Given the description of an element on the screen output the (x, y) to click on. 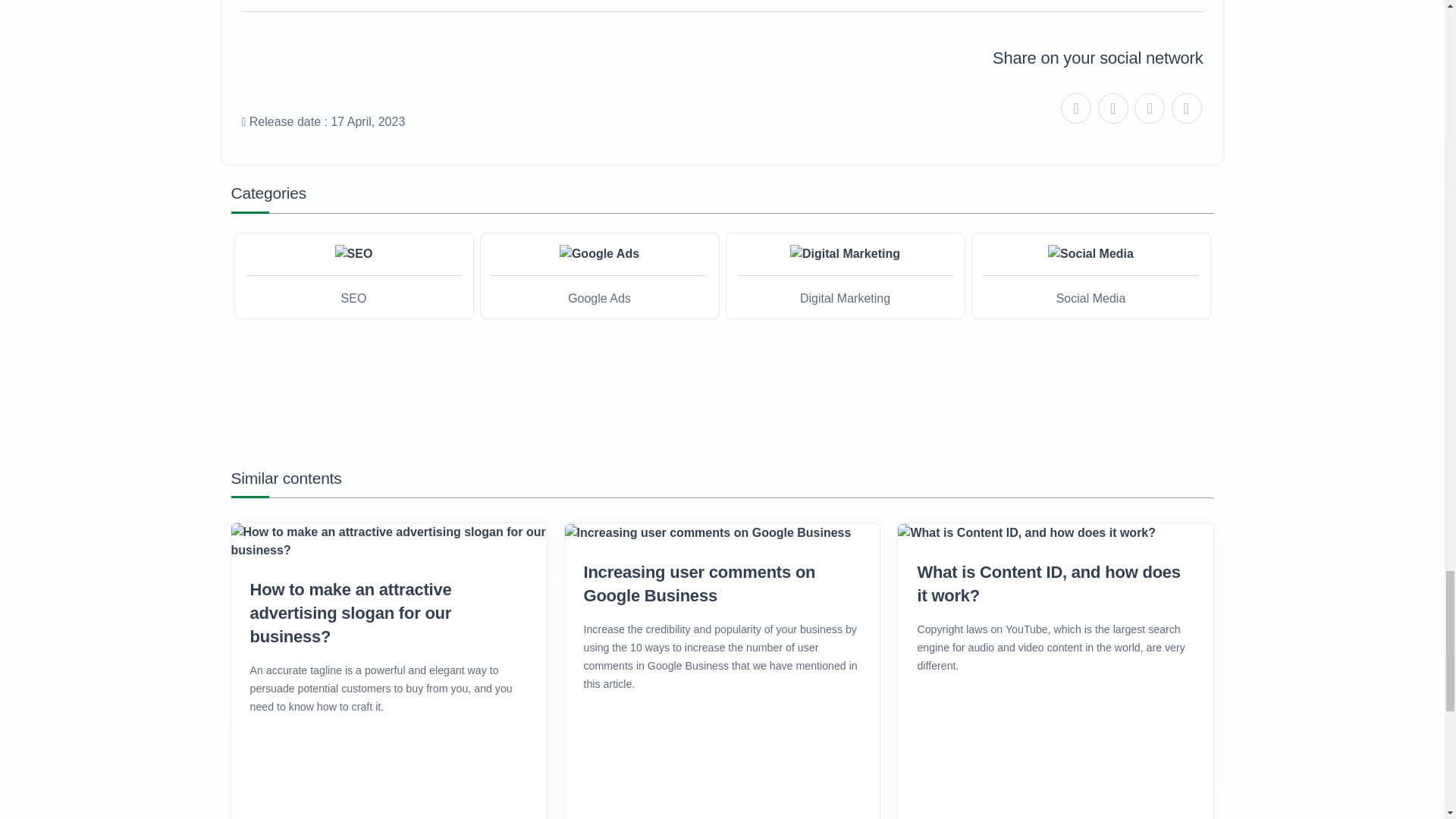
twitter (1075, 108)
What is Content ID, and how does it work? (1027, 533)
Increasing user comments on Google Business (721, 532)
Increasing user comments on Google Business (722, 584)
telegram (1185, 108)
SEO (353, 253)
linkedin (1149, 108)
What is Content ID, and how does it work? (1055, 584)
What is Content ID, and how does it work? (1055, 584)
